Given the description of an element on the screen output the (x, y) to click on. 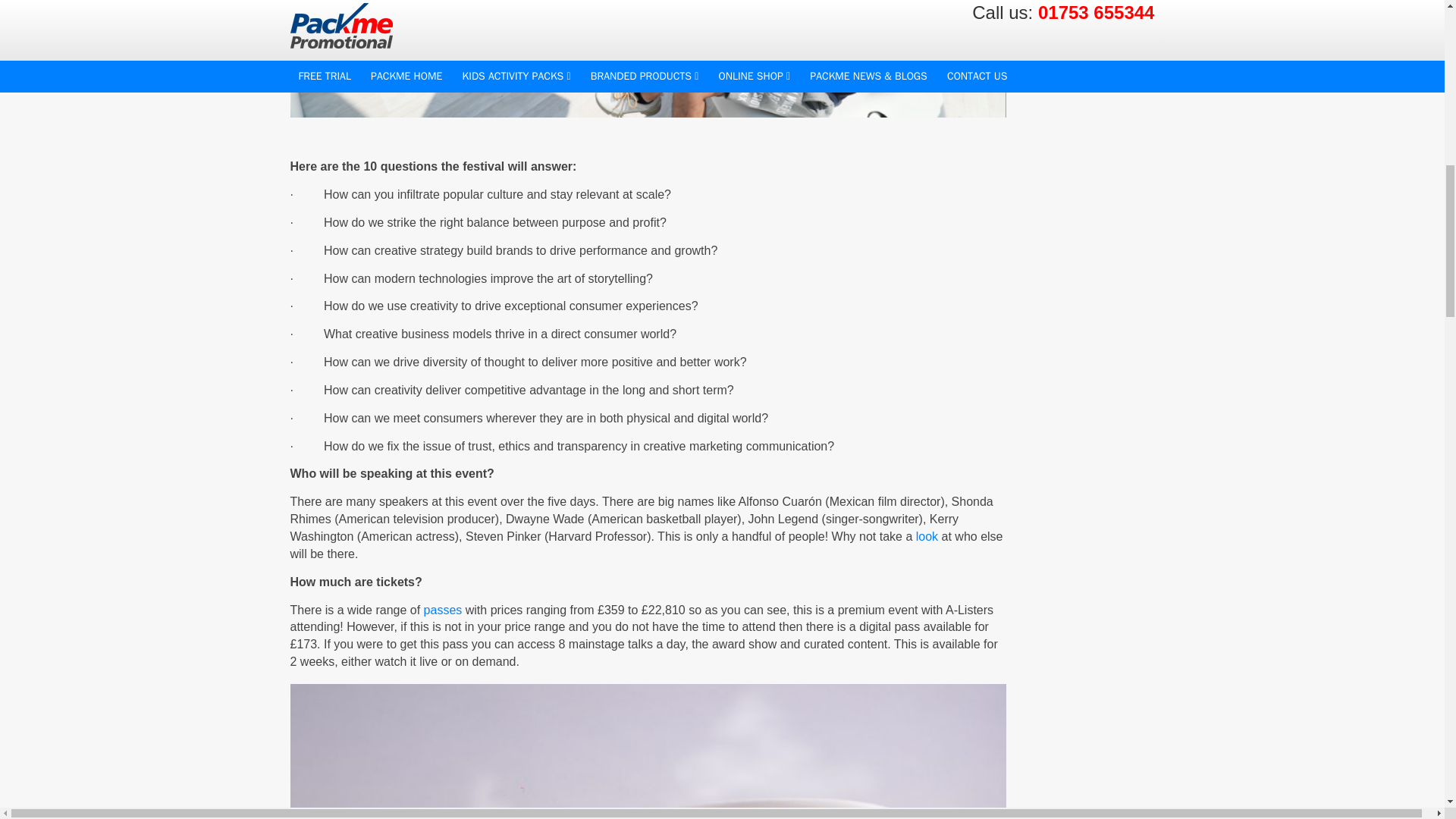
passes (443, 609)
look (926, 535)
